Given the description of an element on the screen output the (x, y) to click on. 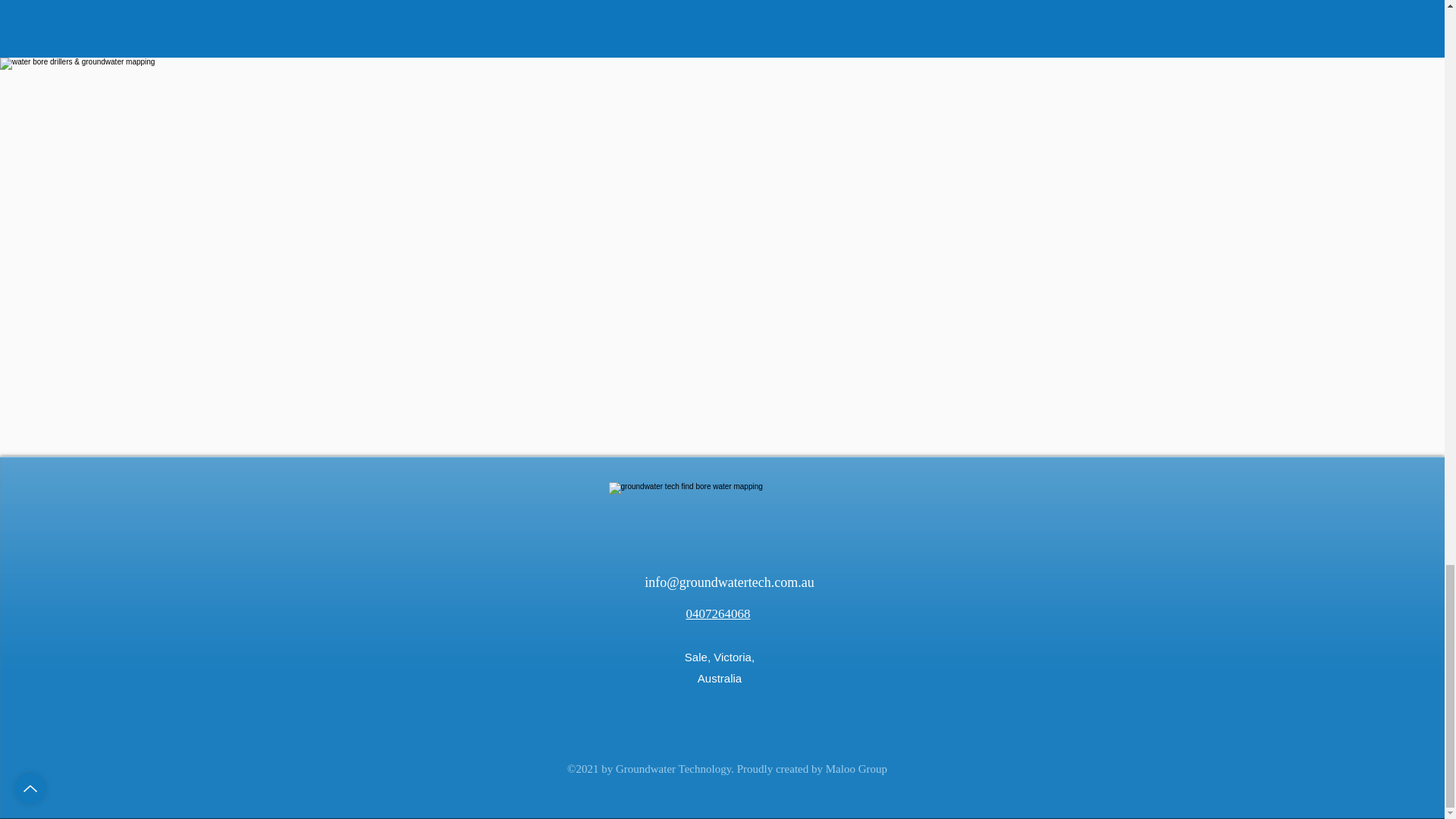
0407264068 (717, 613)
Maloo Group (855, 768)
